Given the description of an element on the screen output the (x, y) to click on. 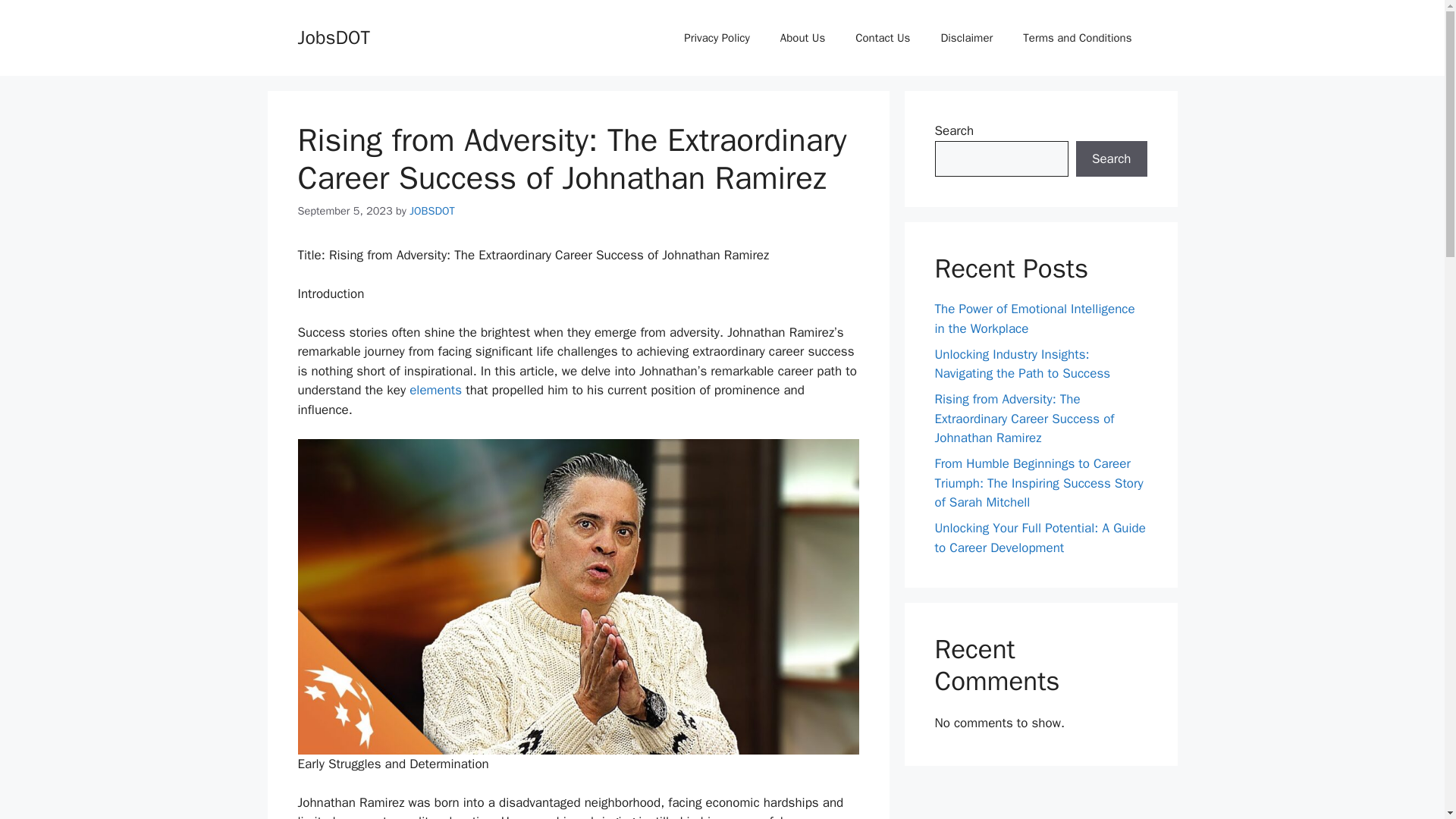
elements (435, 390)
Unlocking Your Full Potential: A Guide to Career Development (1039, 538)
Privacy Policy (716, 37)
JobsDOT (333, 37)
Contact Us (882, 37)
The Power of Emotional Intelligence in the Workplace (1034, 318)
View all posts by JOBSDOT (431, 210)
Unlocking Industry Insights: Navigating the Path to Success (1021, 363)
JOBSDOT (431, 210)
Terms and Conditions (1077, 37)
Search (1111, 158)
Disclaimer (965, 37)
About Us (802, 37)
